Given the description of an element on the screen output the (x, y) to click on. 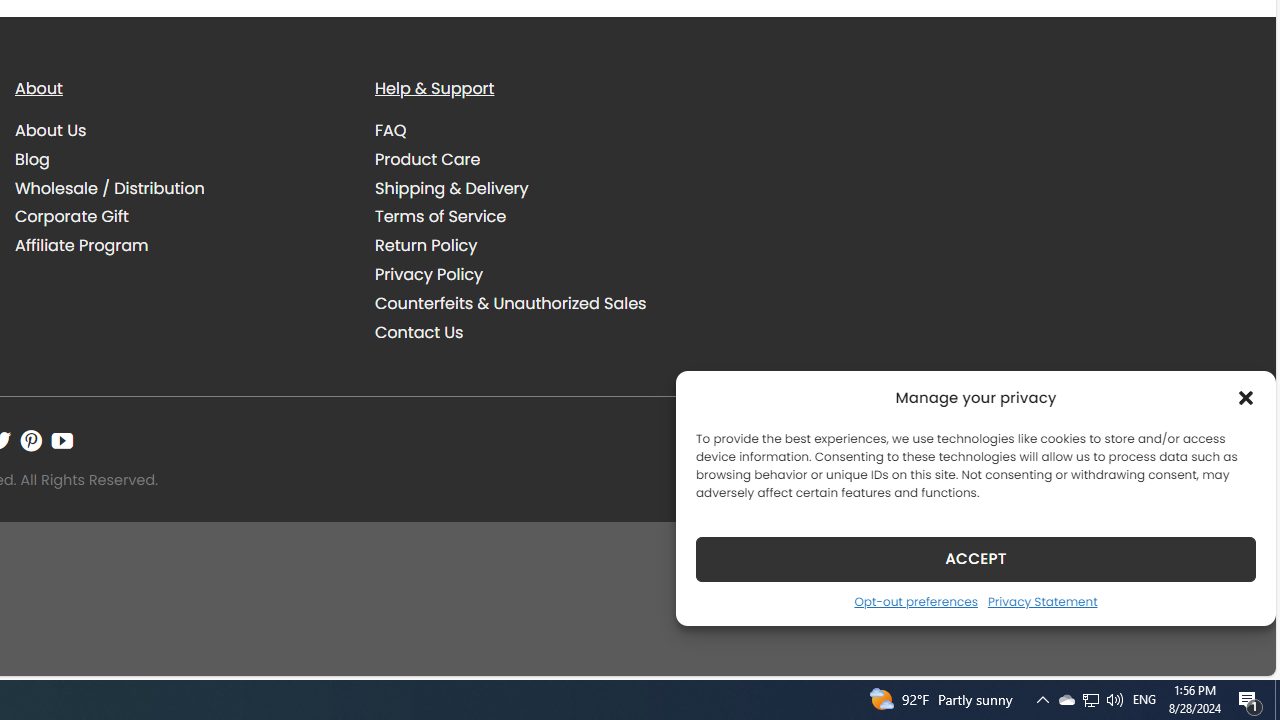
Product Care (428, 158)
Return Policy (426, 245)
FAQ (540, 131)
Blog (32, 158)
Corporate Gift (72, 216)
Product Care (540, 159)
Shipping & Delivery (540, 188)
Counterfeits & Unauthorized Sales (540, 303)
Counterfeits & Unauthorized Sales (510, 302)
FAQ (391, 130)
Privacy Policy (429, 273)
Privacy Statement (1042, 601)
About Us (180, 131)
